Given the description of an element on the screen output the (x, y) to click on. 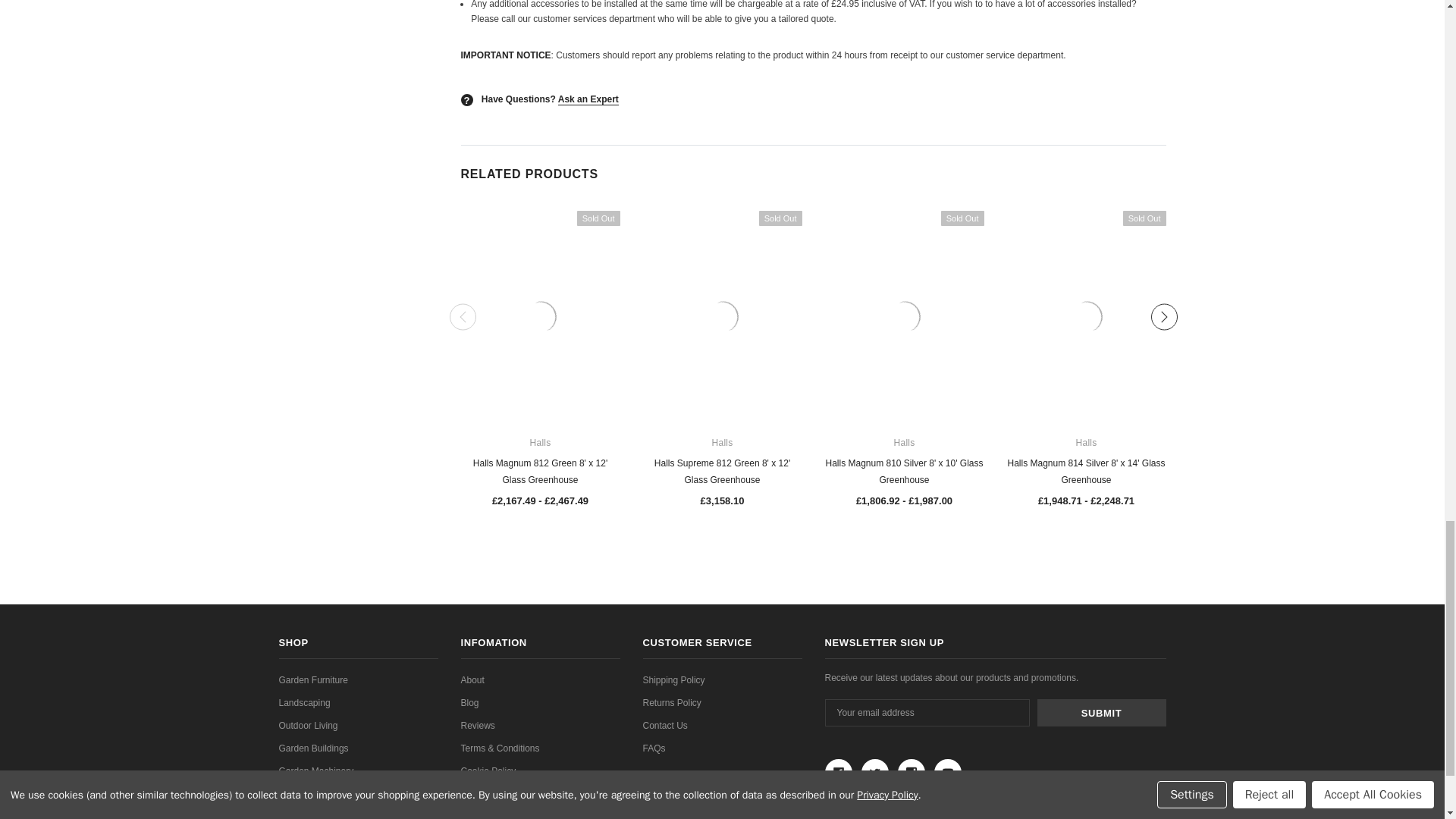
Halls Supreme 812 Green 8' x 12' Glass Greenhouse (722, 316)
Halls Magnum 814 Silver 8' x 14' Glass Greenhouse (1086, 316)
Submit (1101, 712)
Halls Magnum 812 Green 8' x 12' Glass Greenhouse (540, 316)
Halls Magnum 810 Silver 8' x 10' Glass Greenhouse (904, 316)
